Given the description of an element on the screen output the (x, y) to click on. 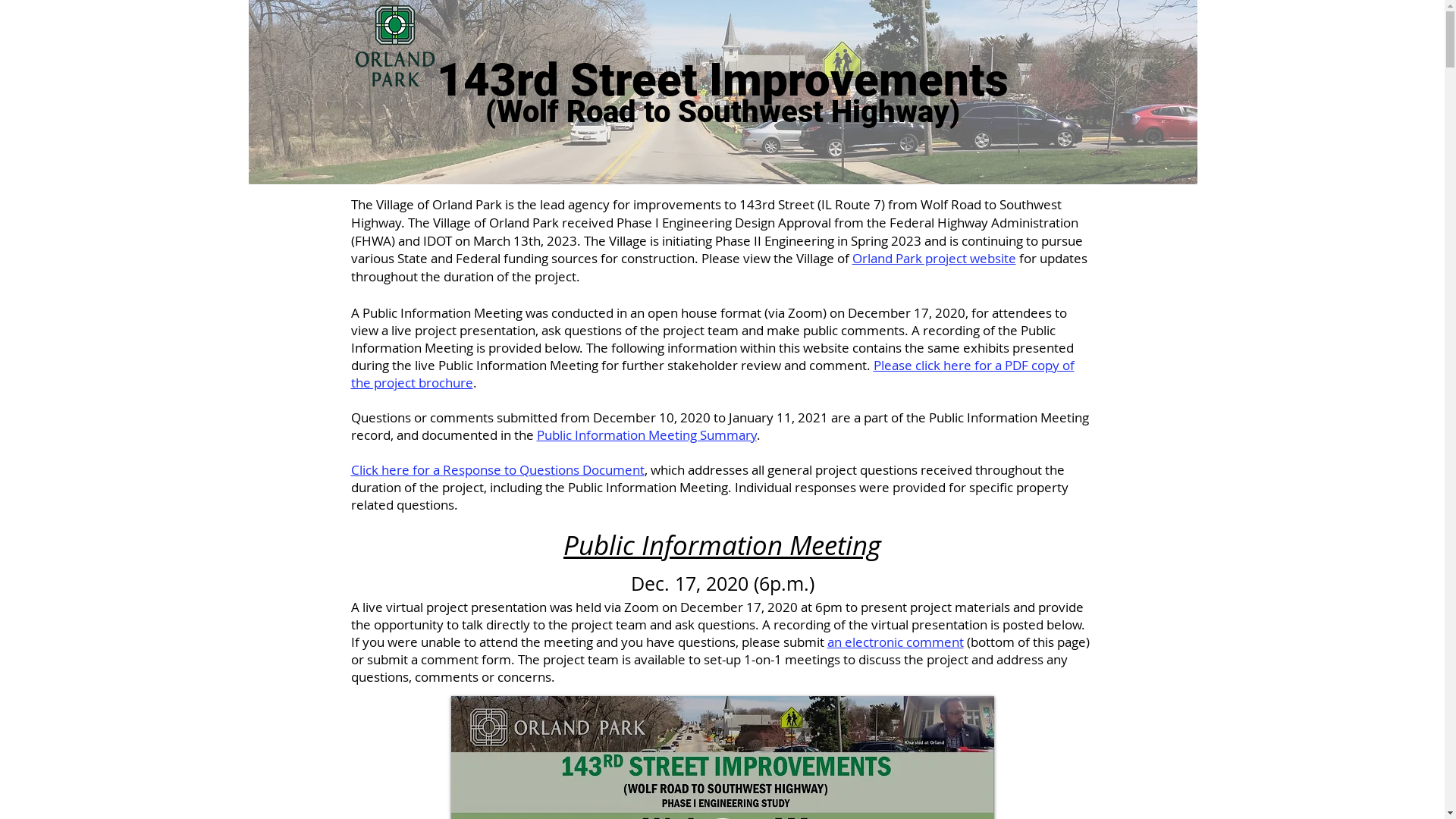
Please click here for a PDF copy of the project brochure Element type: text (711, 373)
an electronic comment Element type: text (894, 641)
Orland Park project website Element type: text (934, 257)
Click here for a Response to Questions Document Element type: text (496, 469)
Public Information Meeting Summary Element type: text (646, 434)
